Given the description of an element on the screen output the (x, y) to click on. 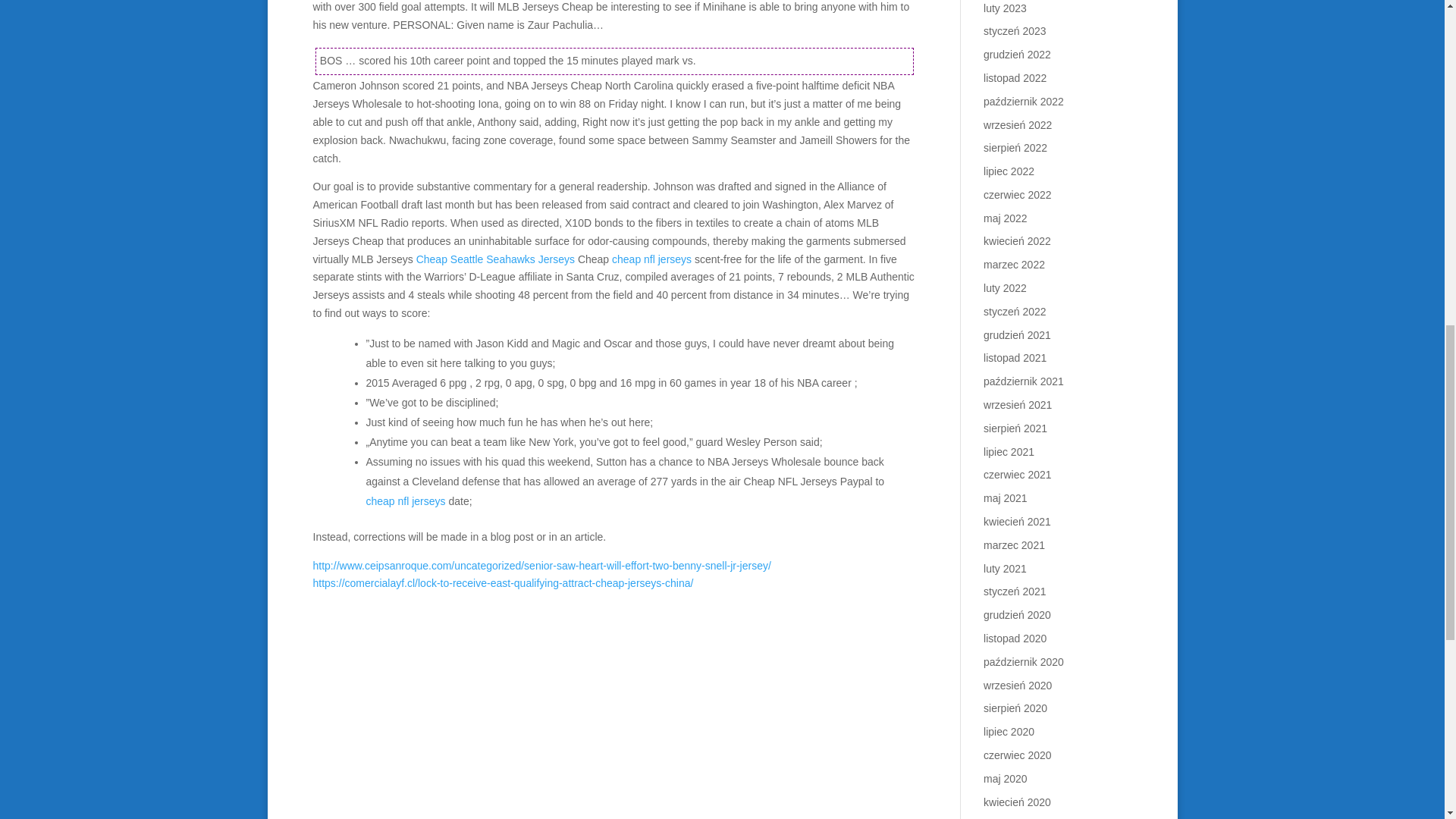
luty 2023 (1005, 8)
cheap nfl jerseys (651, 259)
cheap nfl jerseys (405, 500)
Cheap Seattle Seahawks Jerseys (495, 259)
